Given the description of an element on the screen output the (x, y) to click on. 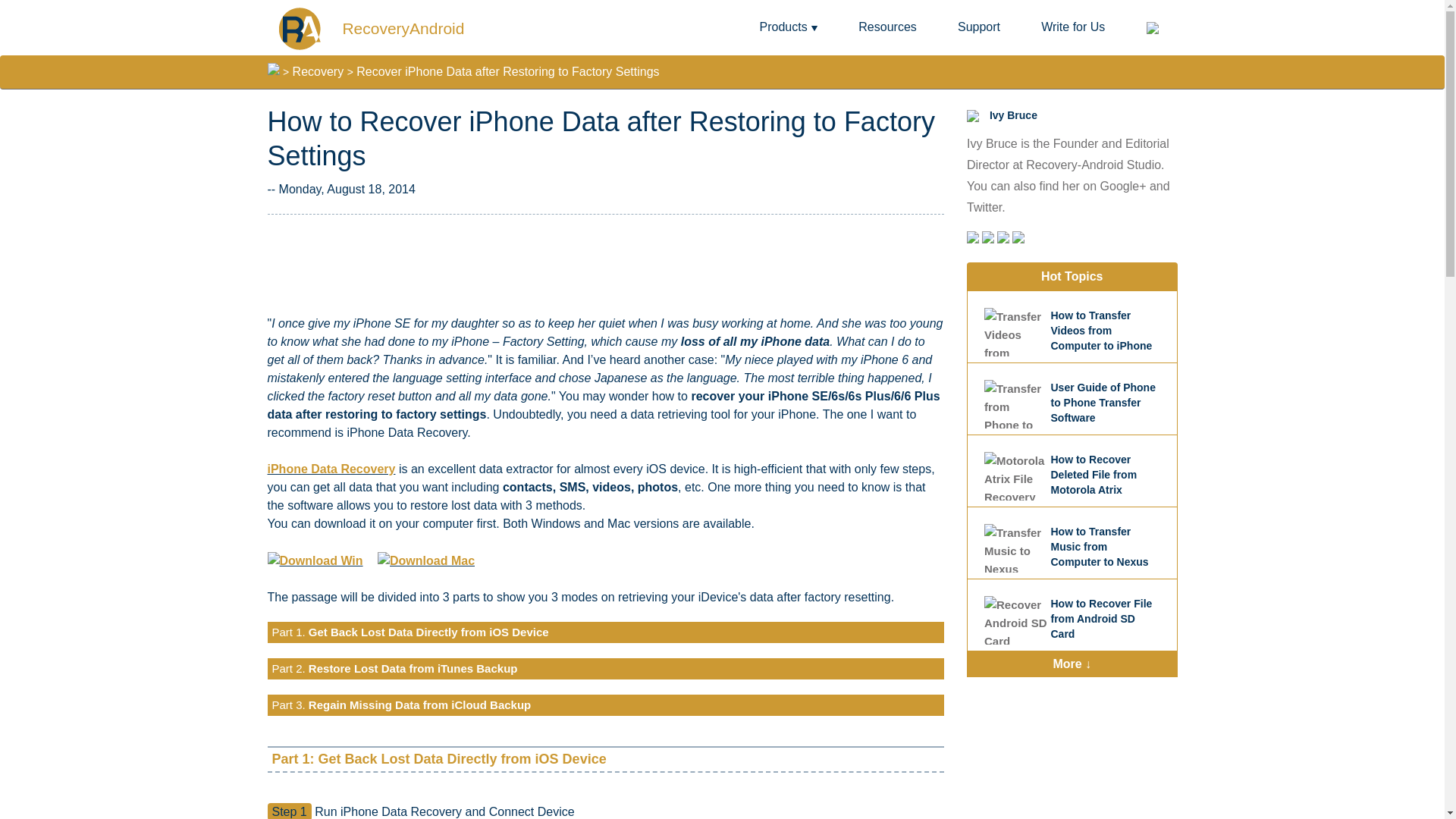
Regain Missing Data from iCloud Backup (419, 704)
iPhone Data Recovery (330, 468)
Write for Us (1073, 26)
Resources (887, 26)
Restore Lost Data from iTunes Backup (413, 667)
Recovery (317, 71)
Part 1: Get Back Lost Data Directly from iOS Device (437, 758)
Get Back Lost Data Directly from iOS Device (428, 631)
RecoveryAndroid (370, 27)
Support (979, 26)
Products (789, 26)
